Given the description of an element on the screen output the (x, y) to click on. 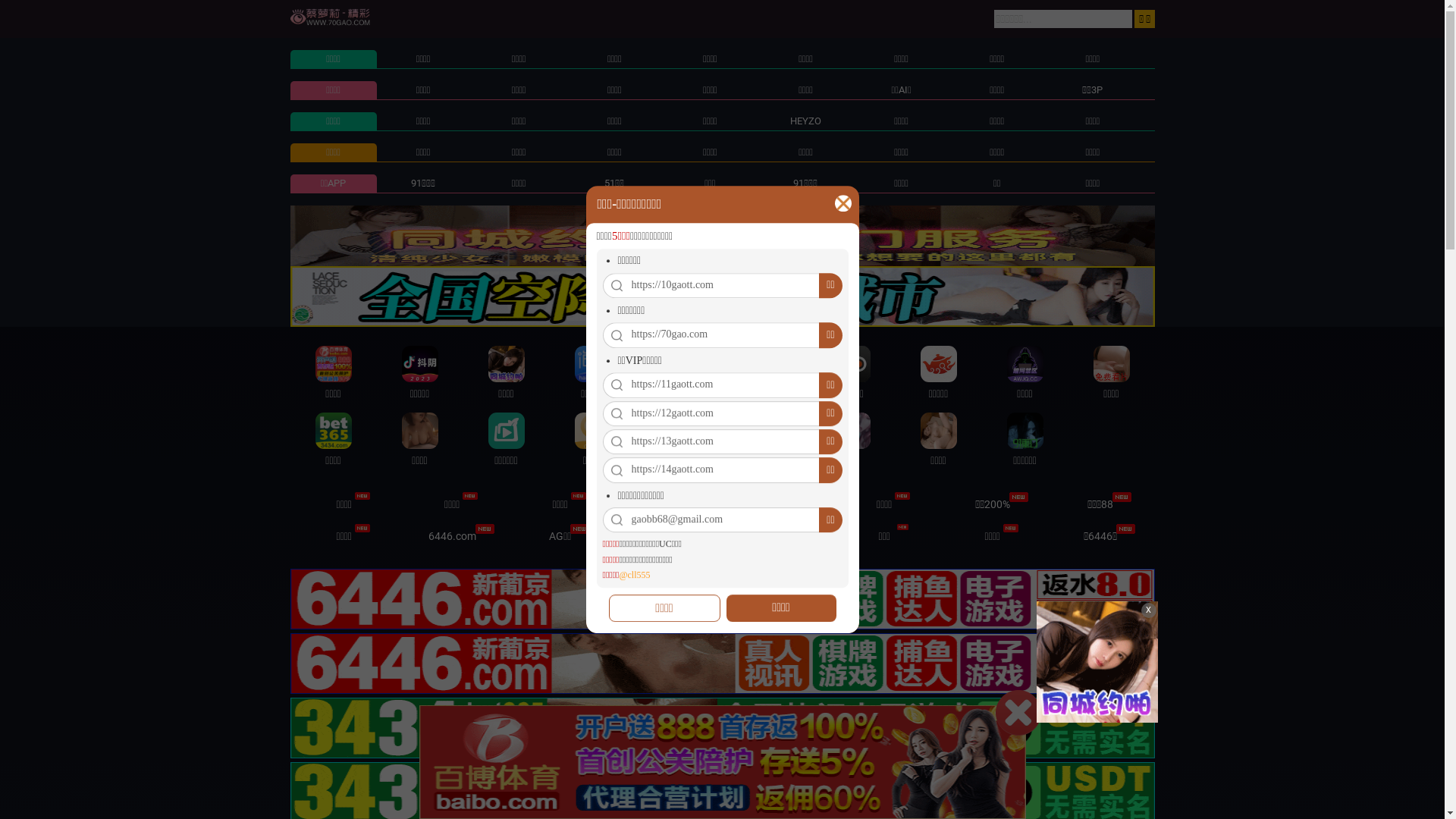
6446.com Element type: text (452, 535)
@cll555 Element type: text (633, 574)
HEYZO Element type: text (805, 120)
